Given the description of an element on the screen output the (x, y) to click on. 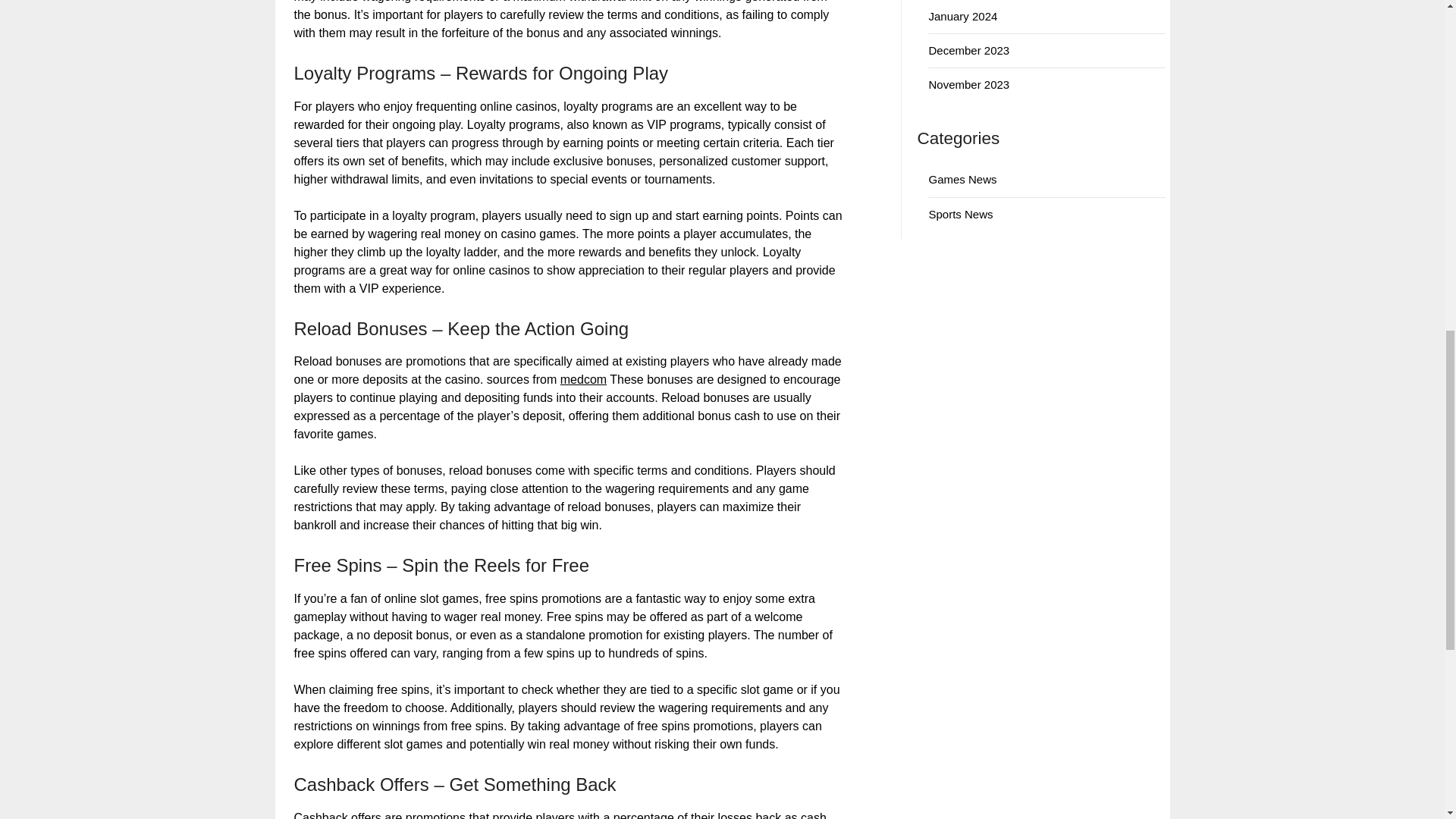
Games News (961, 178)
November 2023 (968, 83)
medcom (583, 379)
January 2024 (962, 15)
December 2023 (968, 50)
Sports News (960, 214)
